Given the description of an element on the screen output the (x, y) to click on. 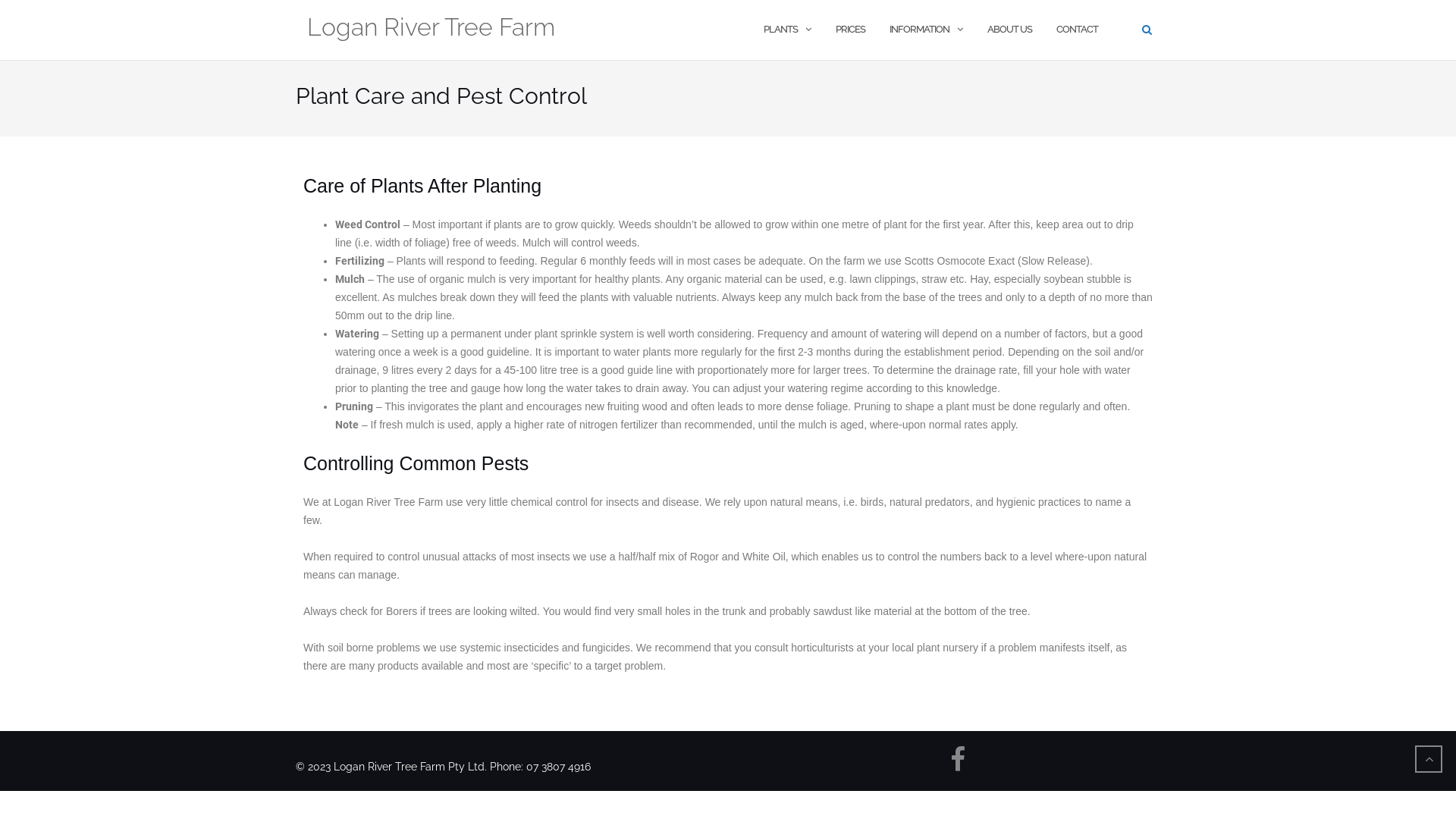
CONTACT Element type: text (1077, 29)
INFORMATION Element type: text (919, 29)
ABOUT US Element type: text (1009, 29)
PRICES Element type: text (850, 29)
PLANTS Element type: text (780, 29)
Logan River Tree Farm Element type: text (431, 29)
